Given the description of an element on the screen output the (x, y) to click on. 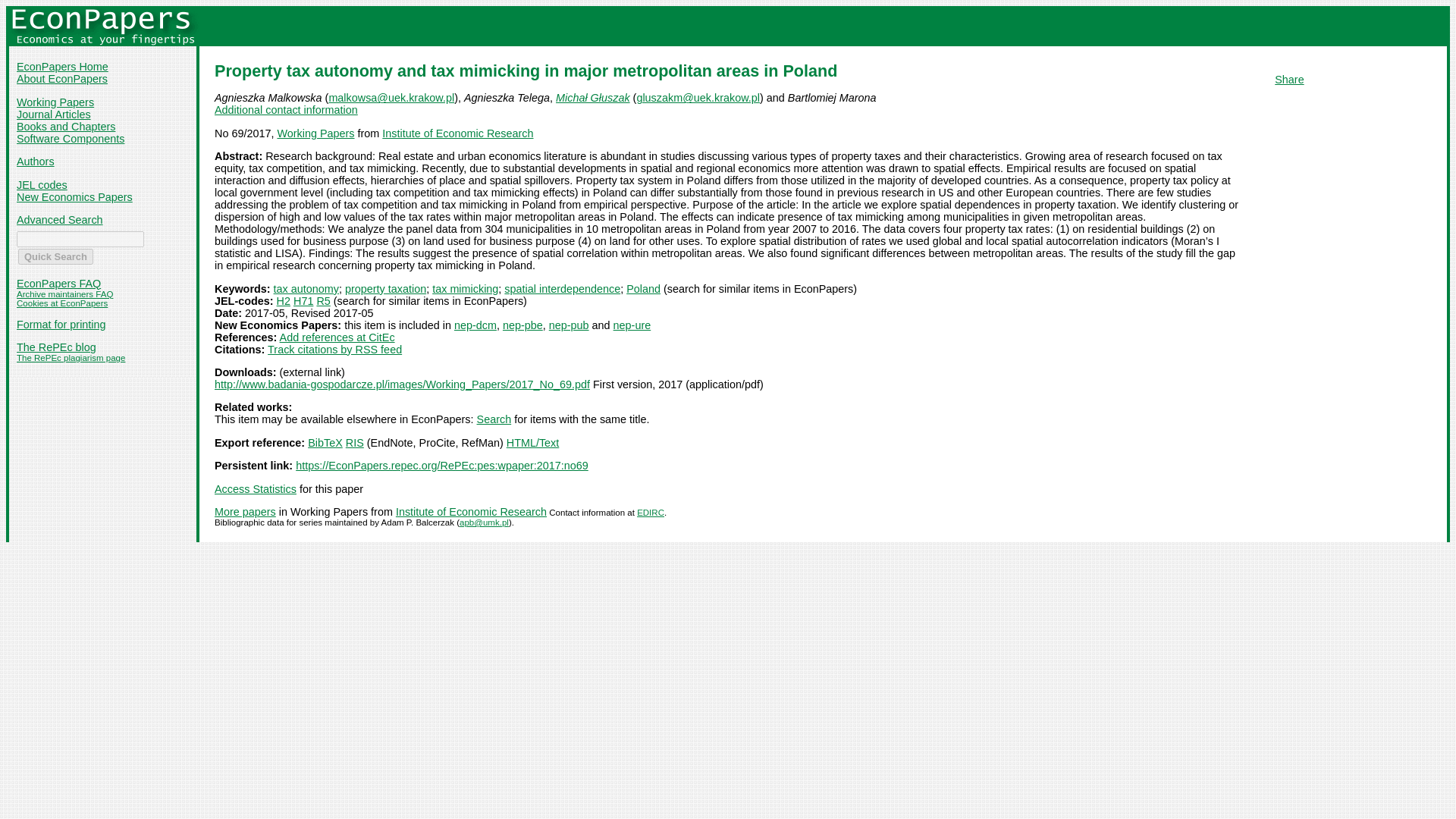
The RePEc blog (56, 346)
Working Papers (314, 133)
nep-dcm (475, 325)
tax autonomy (306, 288)
tax mimicking (464, 288)
JEL codes (41, 184)
EconPapers Home (61, 66)
Archive maintainers FAQ (64, 293)
Quick Search (55, 256)
Add references at CitEc (336, 337)
nep-ure (631, 325)
New Economics Papers (74, 196)
Cookies at EconPapers (61, 302)
Search (494, 419)
The RePEc plagiarism page (70, 357)
